Given the description of an element on the screen output the (x, y) to click on. 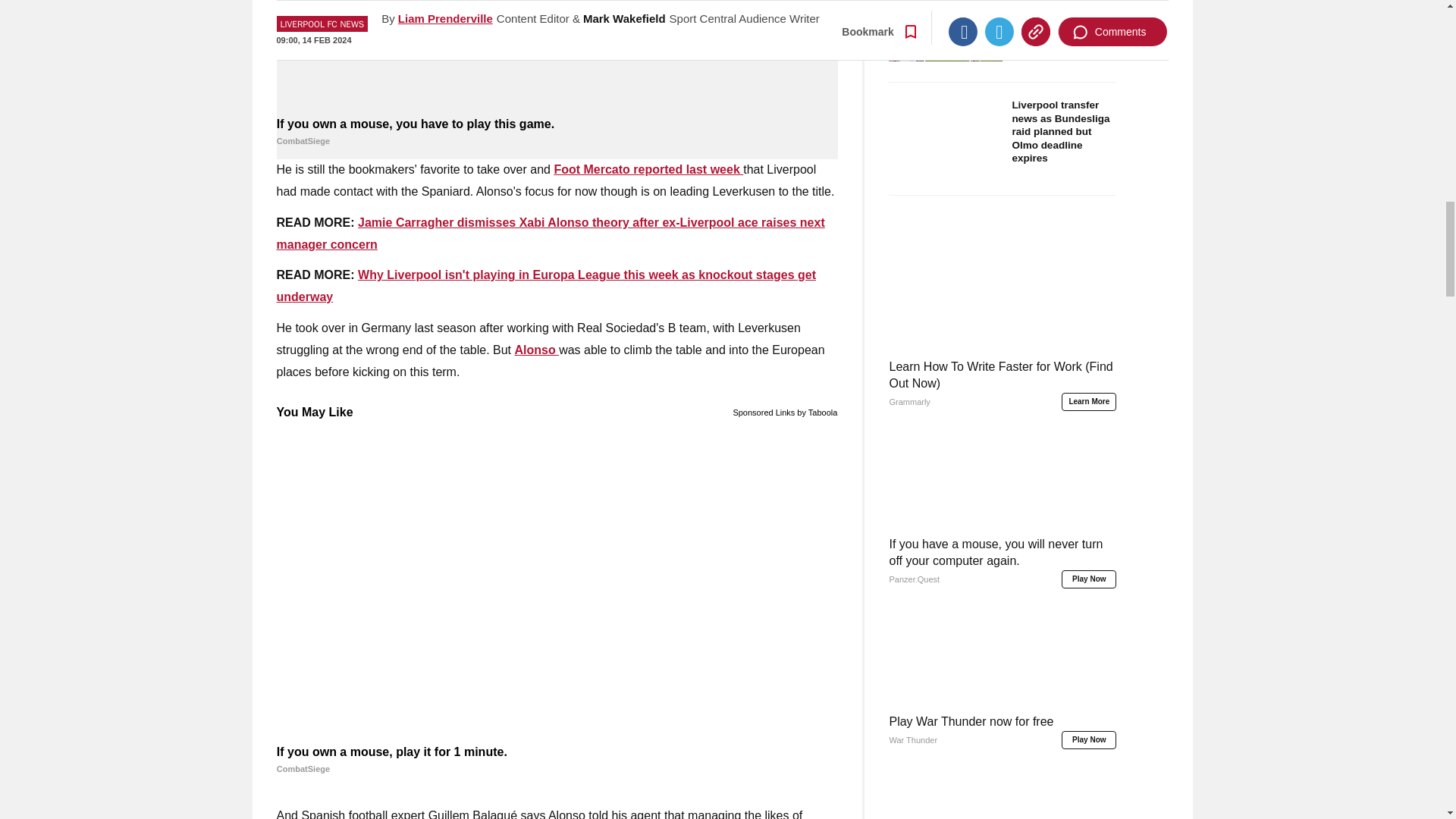
If you own a mouse, you have to play this game. (557, 132)
If you own a mouse, play it for 1 minute. (557, 760)
